Given the description of an element on the screen output the (x, y) to click on. 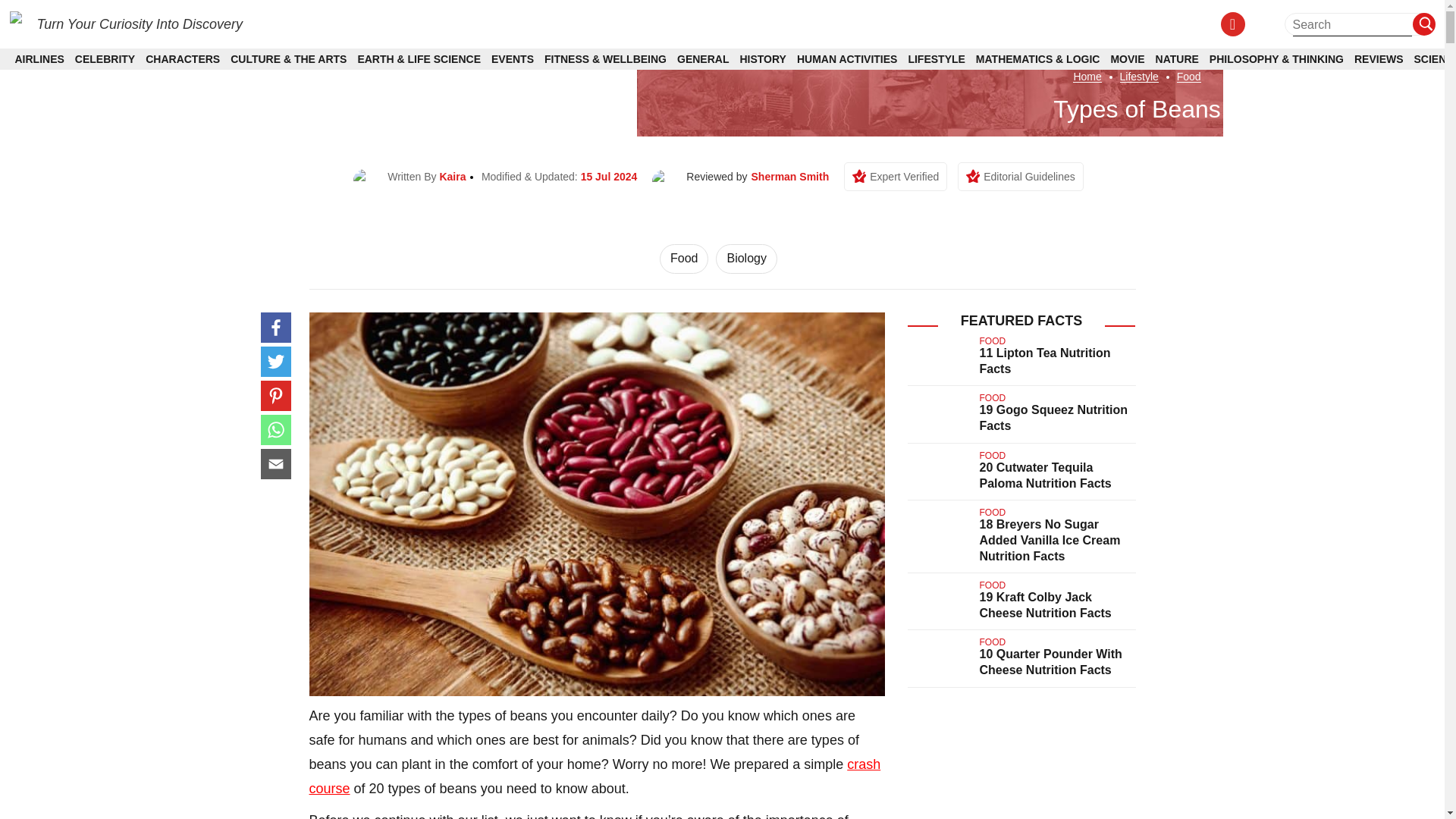
AIRLINES (39, 59)
HUMAN ACTIVITIES (846, 59)
GENERAL (703, 59)
crash course (594, 776)
CHARACTERS (182, 59)
EVENTS (513, 59)
CELEBRITY (105, 59)
Facts.net (14, 18)
HISTORY (762, 59)
LIFESTYLE (935, 59)
